Given the description of an element on the screen output the (x, y) to click on. 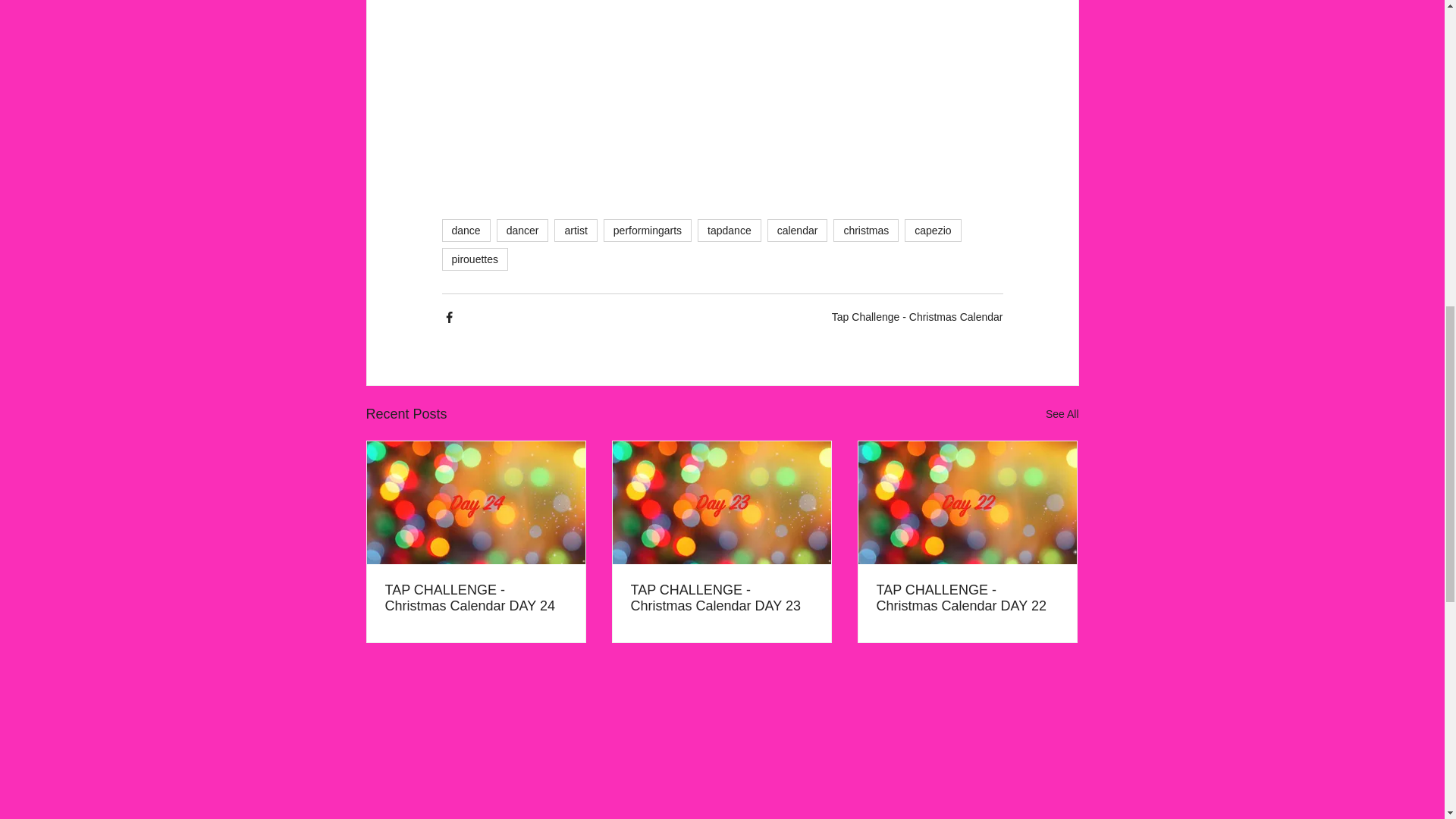
calendar (797, 230)
TAP CHALLENGE - Christmas Calendar DAY 24 (476, 598)
Tap Challenge - Christmas Calendar (917, 316)
capezio (932, 230)
tapdance (729, 230)
dancer (522, 230)
artist (575, 230)
TAP CHALLENGE - Christmas Calendar DAY 23 (721, 598)
christmas (865, 230)
performingarts (647, 230)
TAP CHALLENGE - Christmas Calendar DAY 22 (967, 598)
See All (1061, 414)
dance (465, 230)
pirouettes (473, 259)
